Given the description of an element on the screen output the (x, y) to click on. 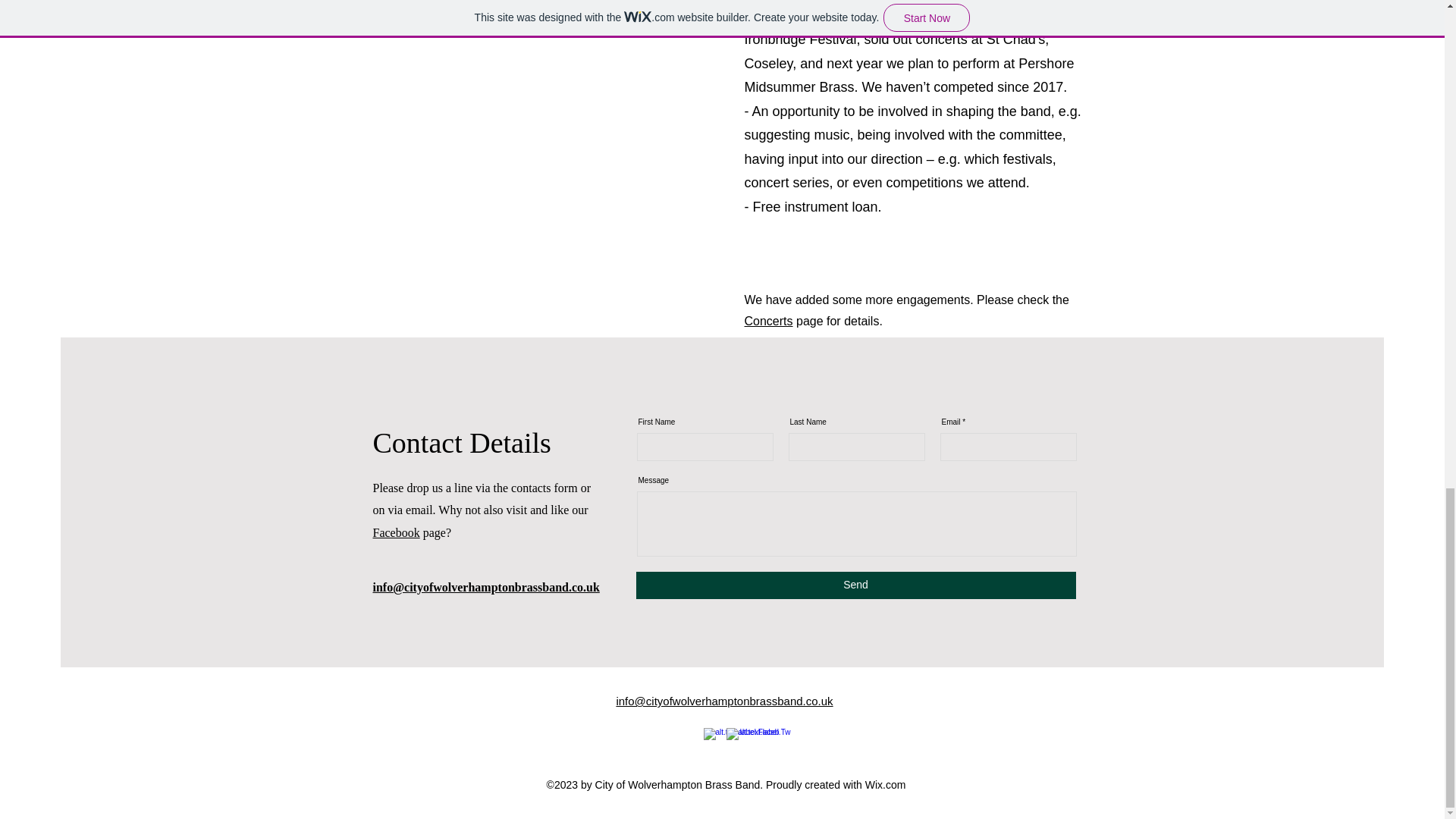
Concerts (768, 320)
Send (854, 584)
Facebook (396, 532)
